Given the description of an element on the screen output the (x, y) to click on. 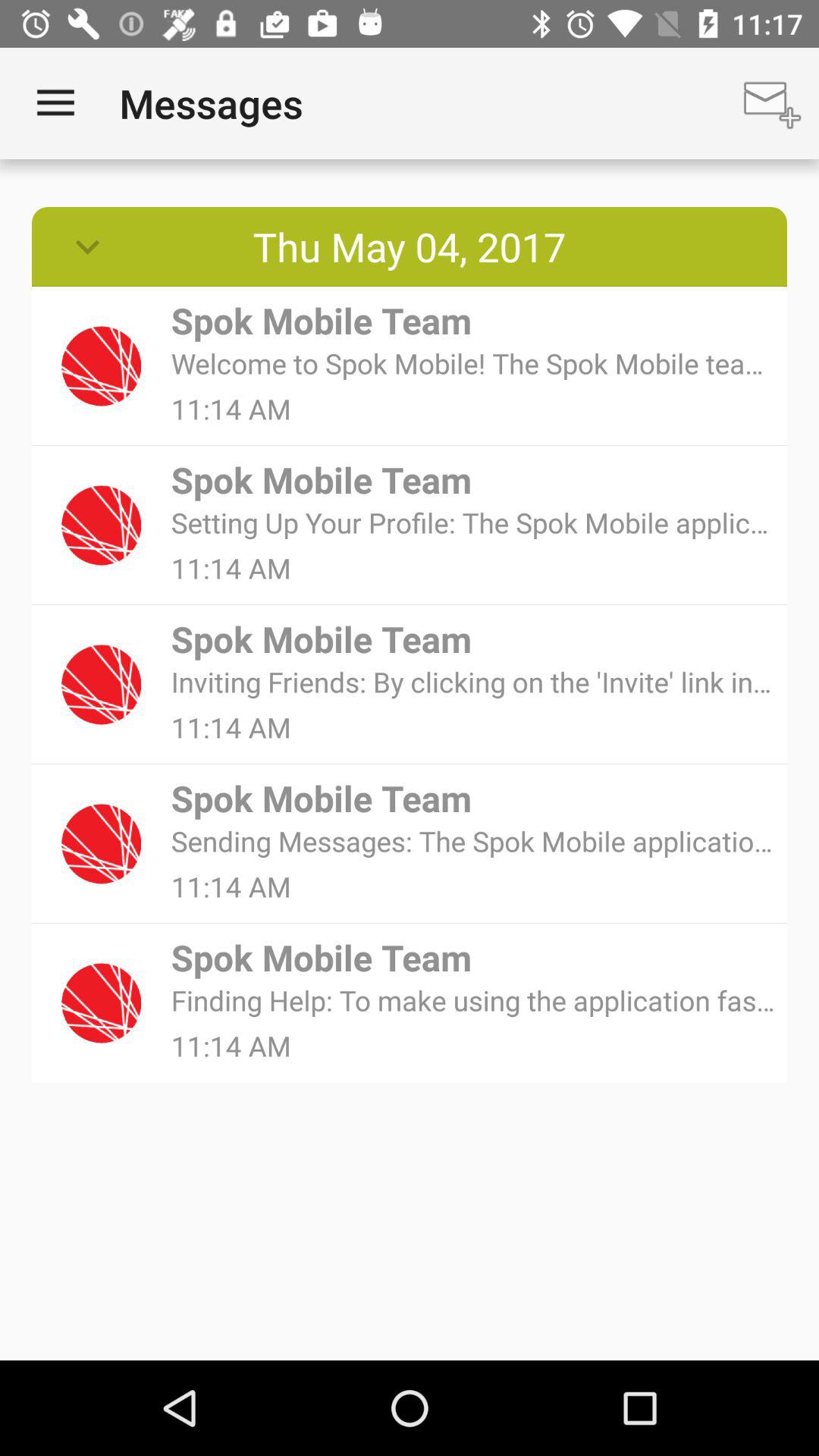
launch item below the spok mobile team (473, 1000)
